Given the description of an element on the screen output the (x, y) to click on. 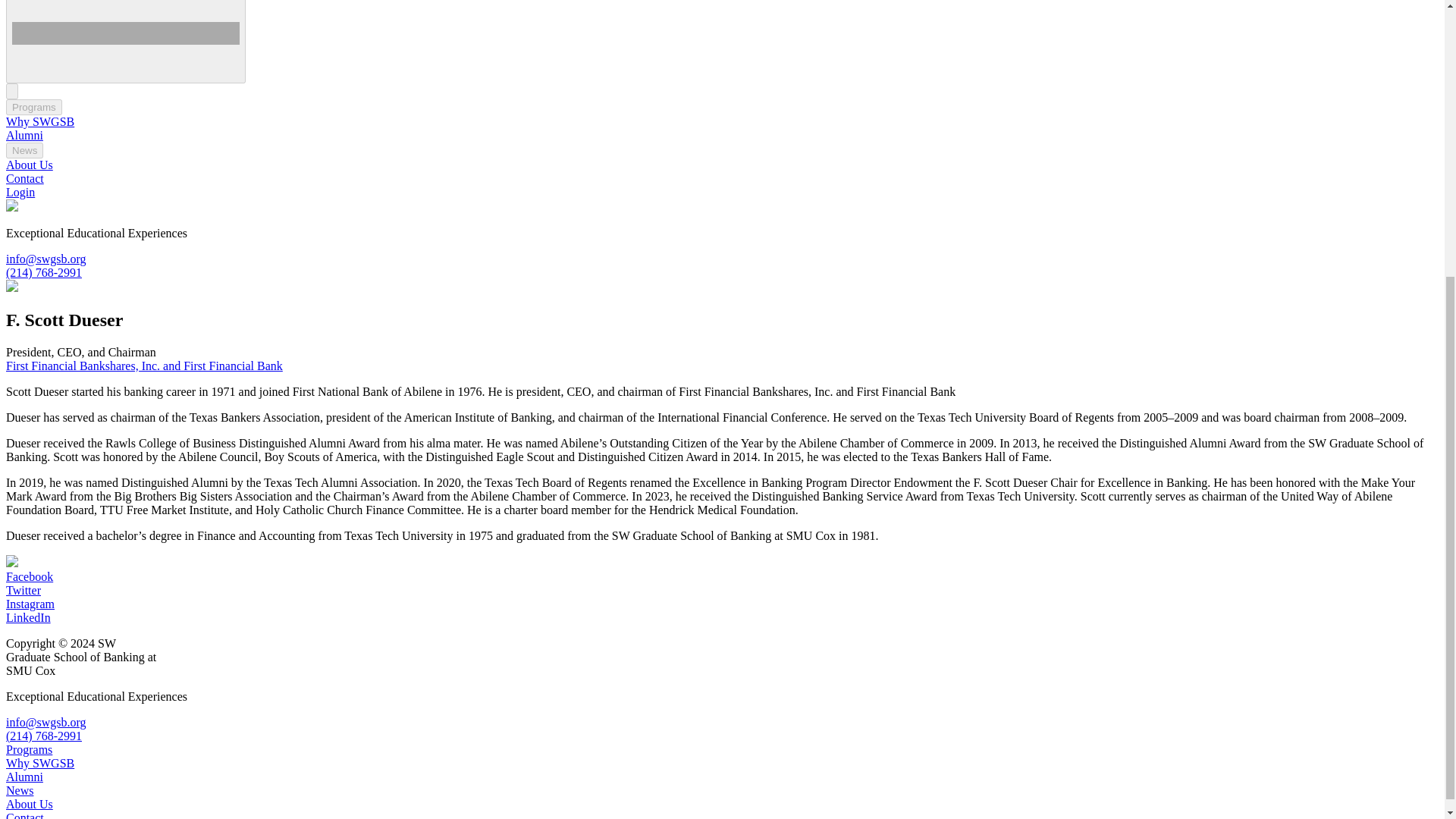
News (24, 150)
News (24, 150)
Alumni (24, 134)
Programs (33, 107)
Why SWGSB (39, 121)
Programs (33, 107)
